Given the description of an element on the screen output the (x, y) to click on. 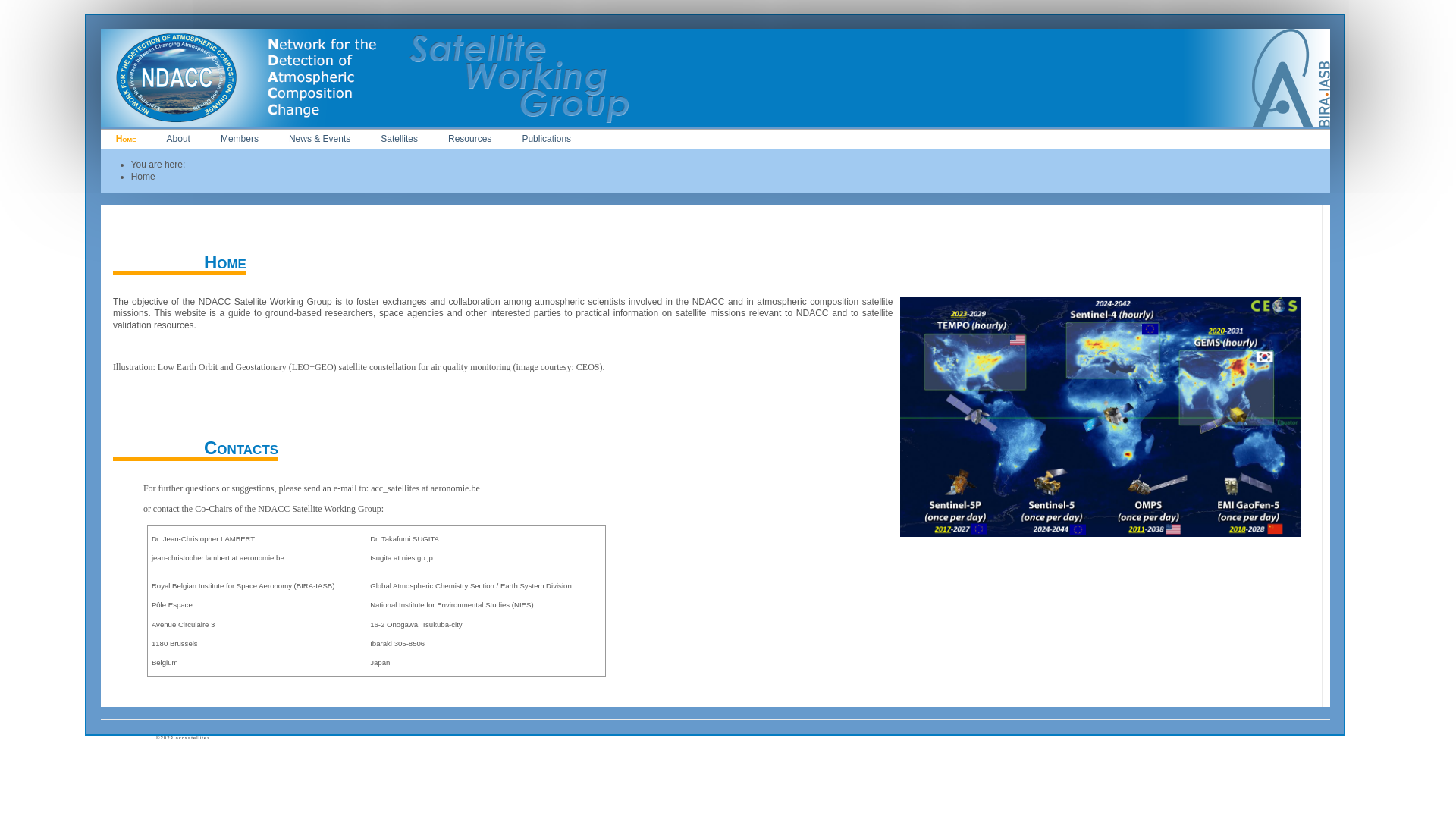
Members Element type: text (239, 138)
Publications Element type: text (546, 138)
Home Element type: text (125, 138)
Resources Element type: text (469, 138)
Satellites Element type: text (399, 138)
About Element type: text (178, 138)
News & Events Element type: text (319, 138)
